Given the description of an element on the screen output the (x, y) to click on. 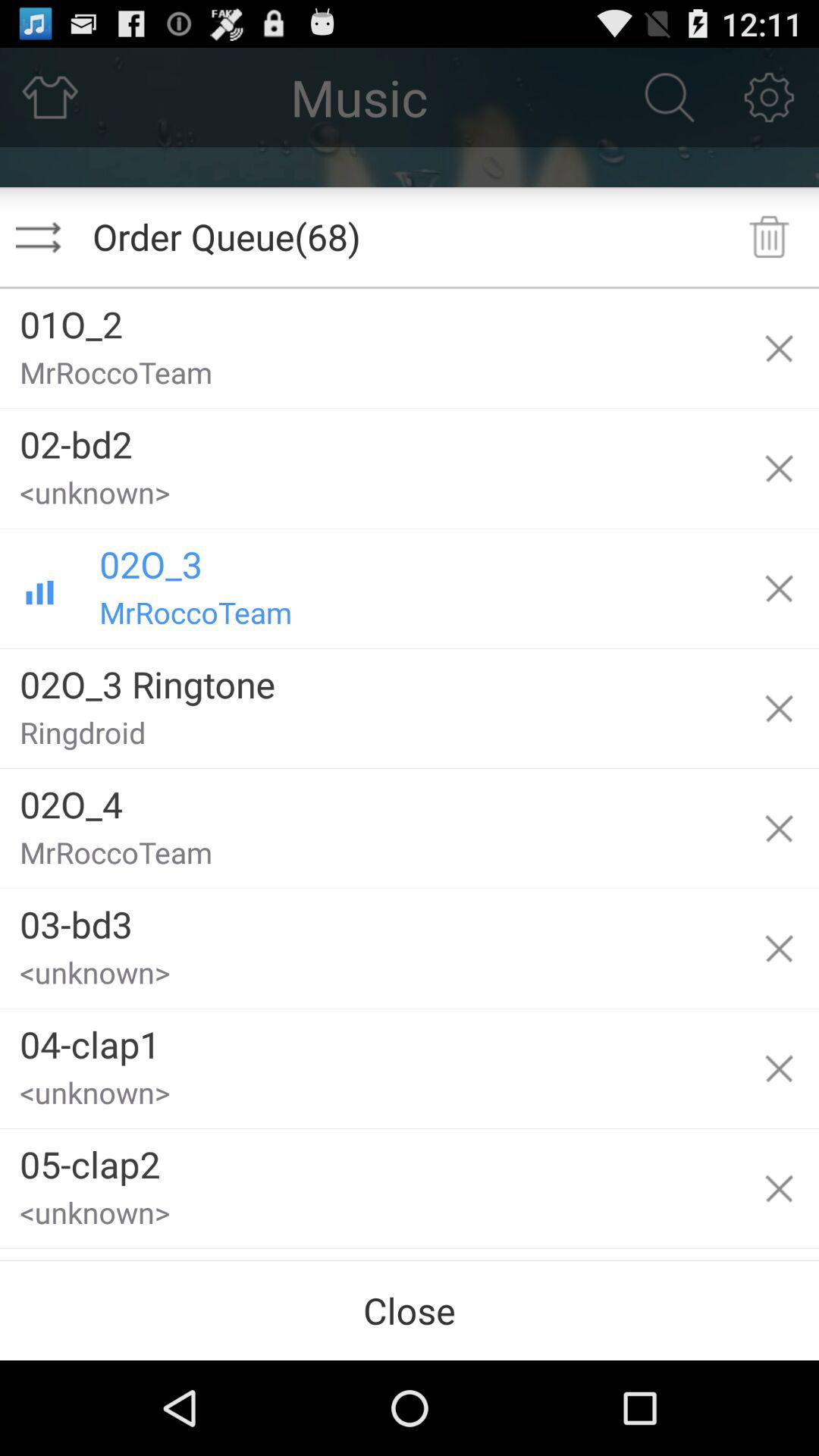
choose icon above the <unknown> item (369, 1038)
